Given the description of an element on the screen output the (x, y) to click on. 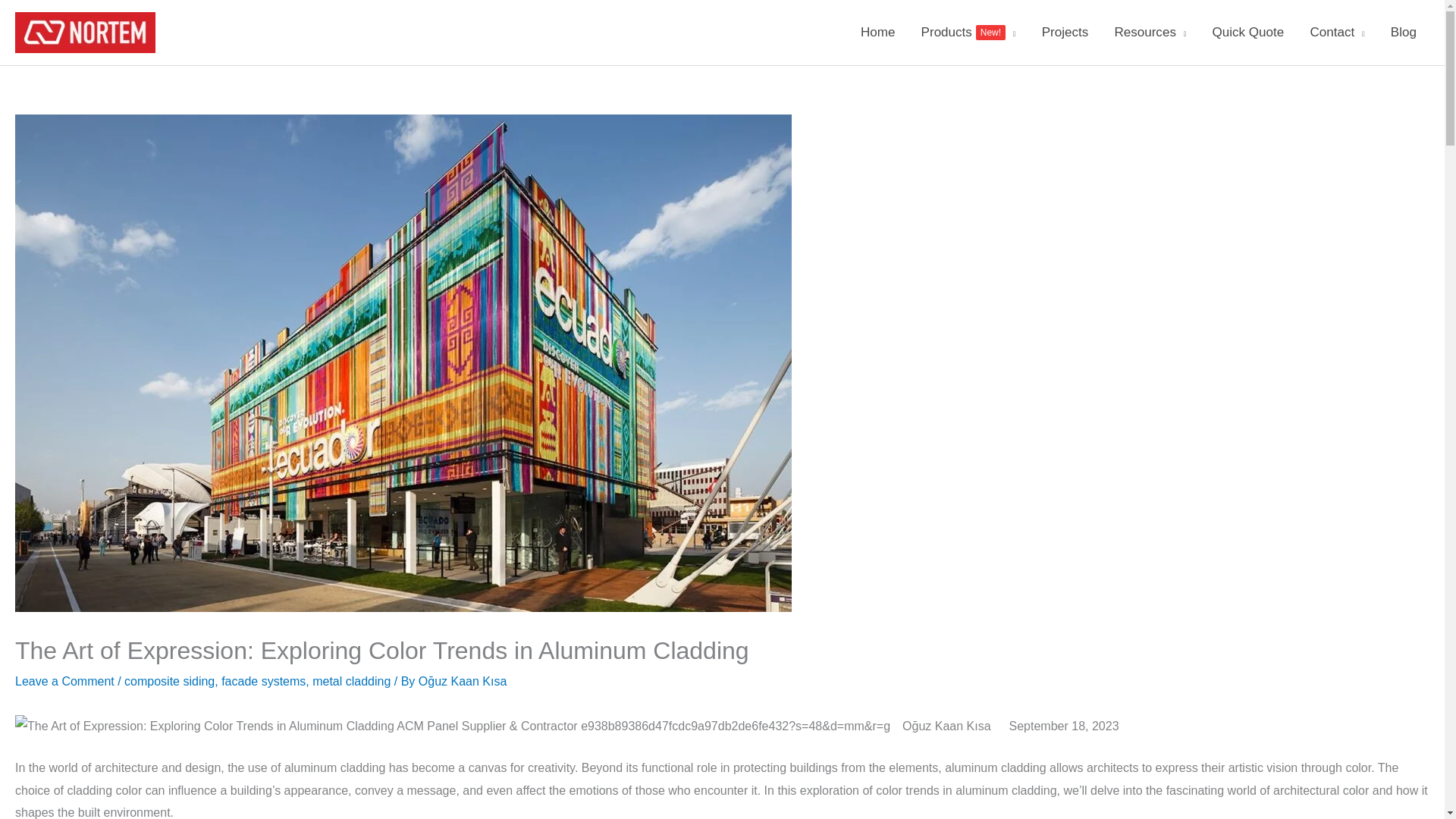
Projects (1065, 32)
Home (877, 32)
Resources (968, 32)
